Given the description of an element on the screen output the (x, y) to click on. 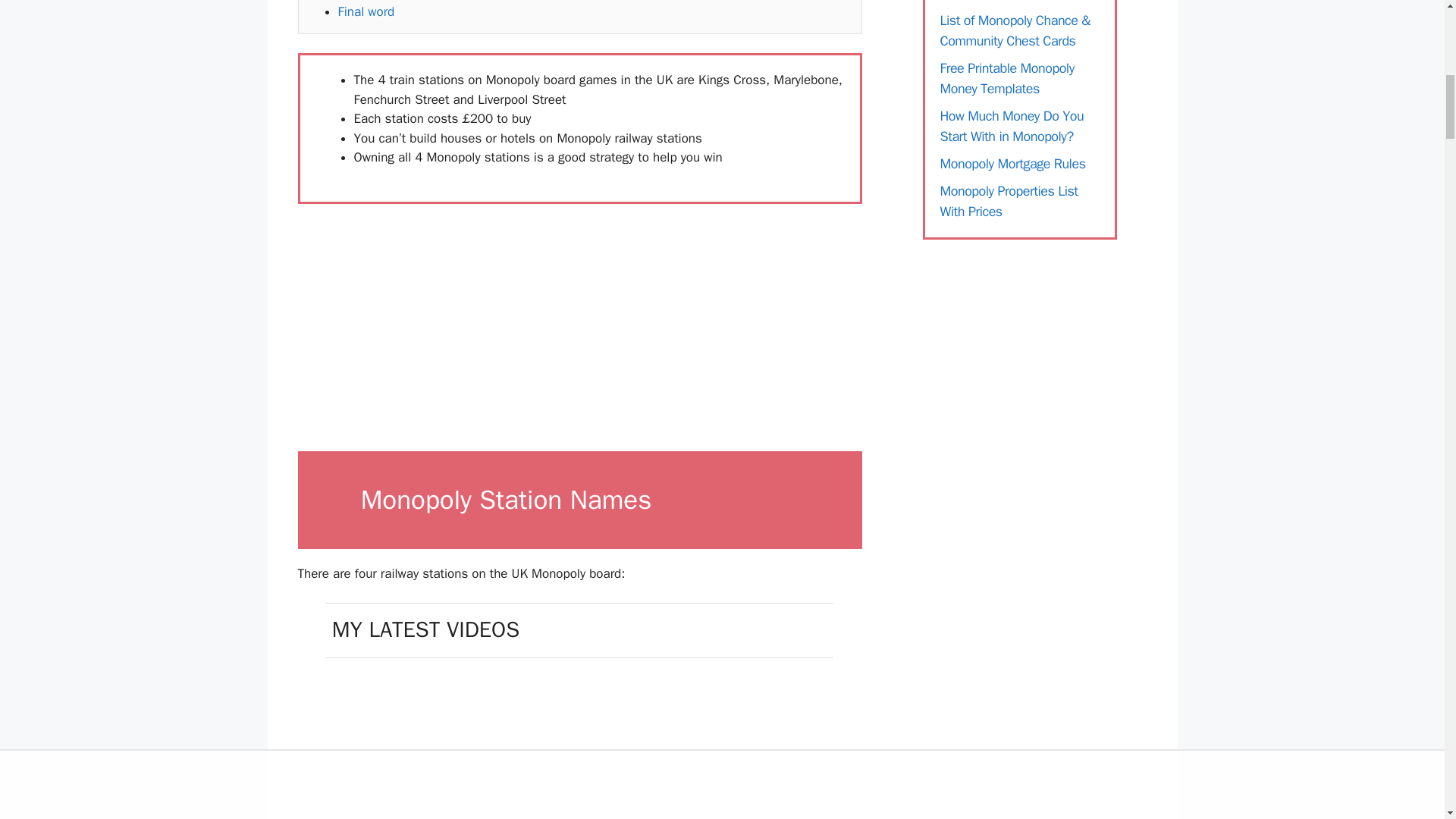
Free Printable Monopoly Money Templates (1007, 77)
Monopoly Mortgage Rules (1013, 162)
Monopoly Properties List With Prices (1009, 200)
How Much Money Do You Start With in Monopoly? (1012, 125)
Final word (365, 11)
